Given the description of an element on the screen output the (x, y) to click on. 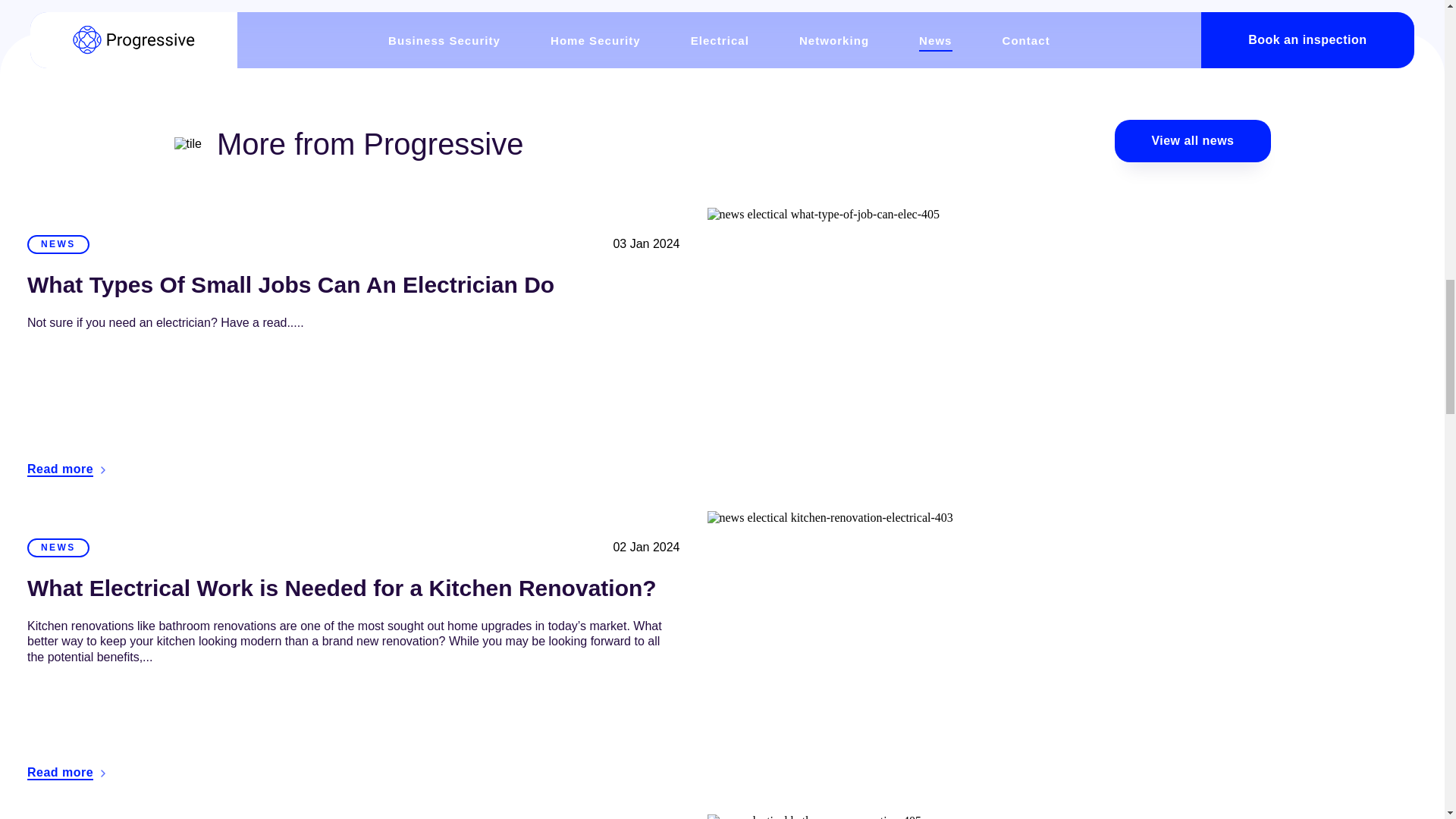
View all news (1192, 140)
